Given the description of an element on the screen output the (x, y) to click on. 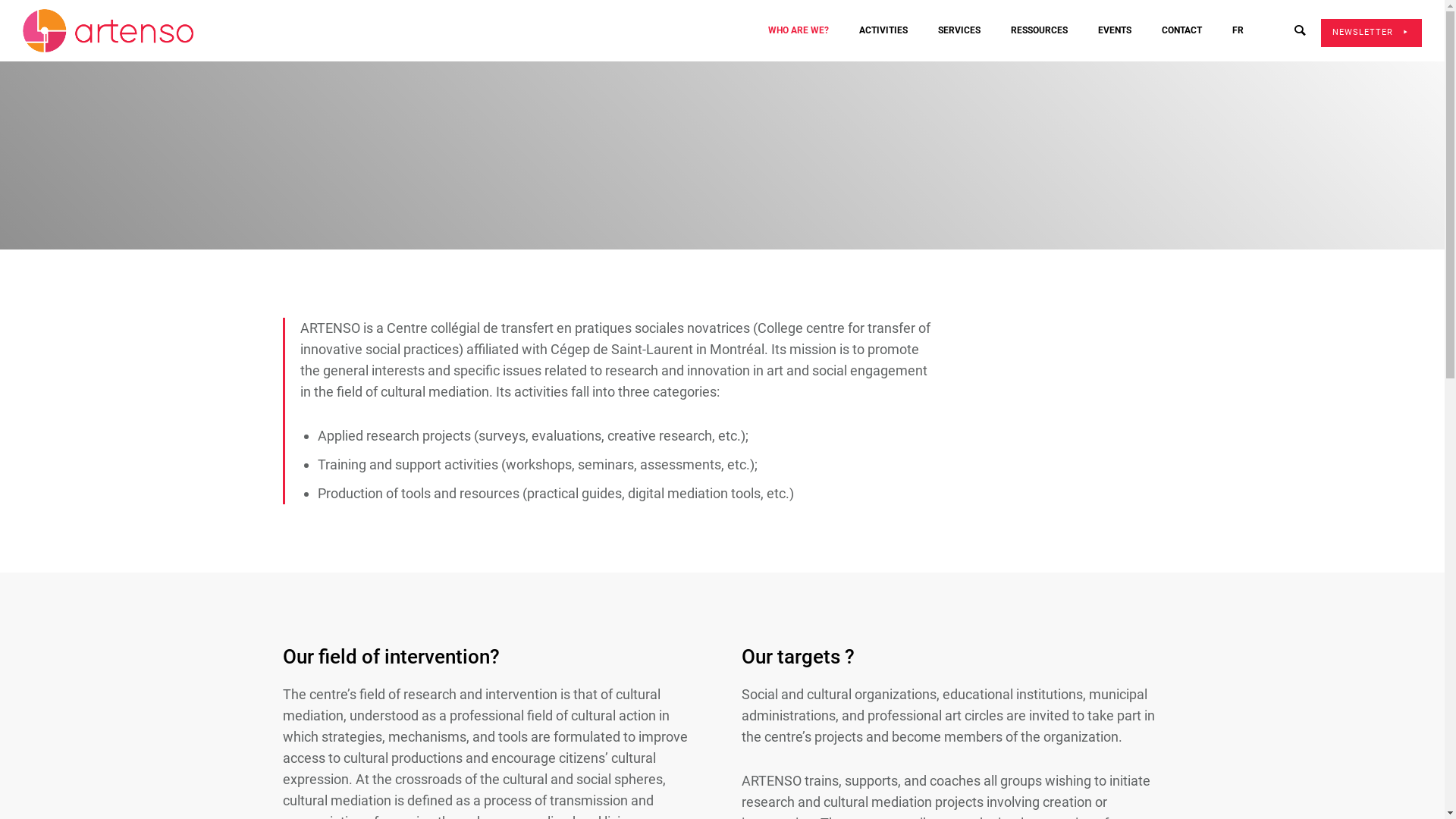
CONTACT Element type: text (1181, 30)
SERVICES Element type: text (958, 30)
ACTIVITIES Element type: text (883, 30)
EVENTS Element type: text (1114, 30)
WHO ARE WE? Element type: text (798, 30)
NEWSLETTER Element type: text (1371, 32)
FR Element type: text (1237, 30)
RESSOURCES Element type: text (1038, 30)
